Given the description of an element on the screen output the (x, y) to click on. 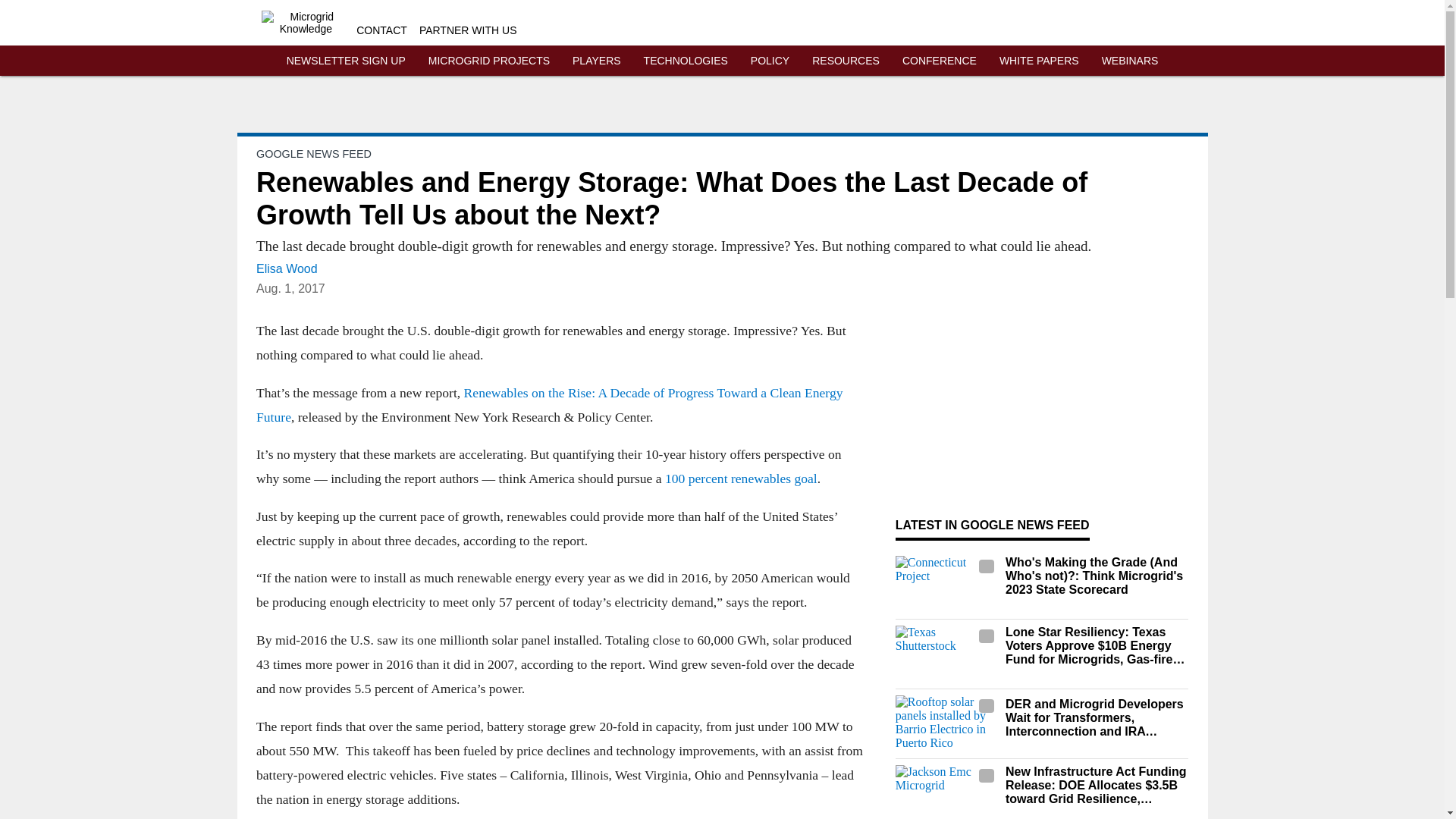
TECHNOLOGIES (685, 60)
Elisa Wood (286, 268)
100 percent renewables goal (739, 478)
NEWSLETTER SIGN UP (346, 60)
POLICY (770, 60)
WHITE PAPERS (1038, 60)
LATEST IN GOOGLE NEWS FEED (992, 524)
CONTACT (381, 30)
RESOURCES (845, 60)
Jackson Emc Microgrid (946, 791)
